Given the description of an element on the screen output the (x, y) to click on. 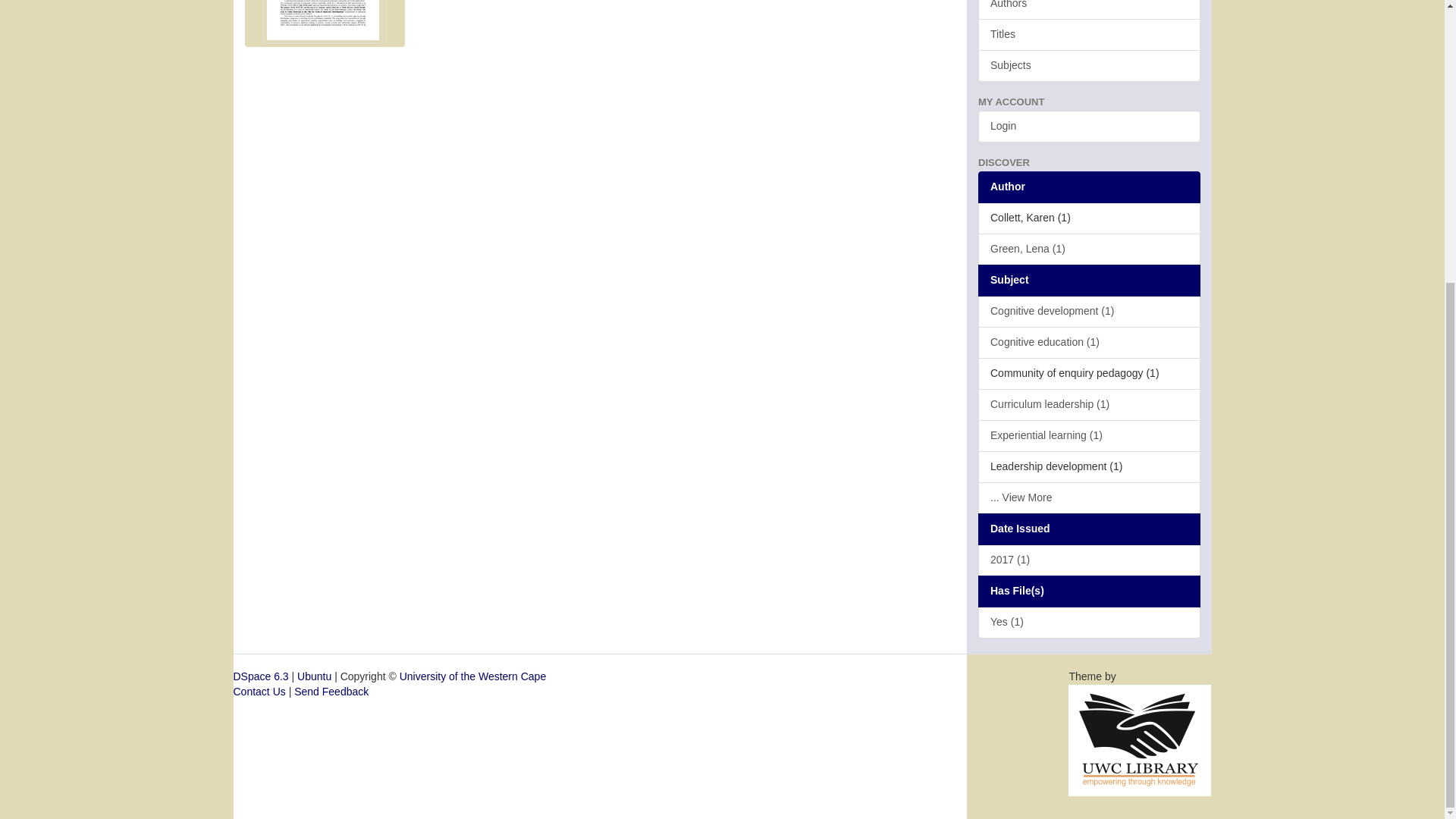
Atmire NV (1139, 739)
